Given the description of an element on the screen output the (x, y) to click on. 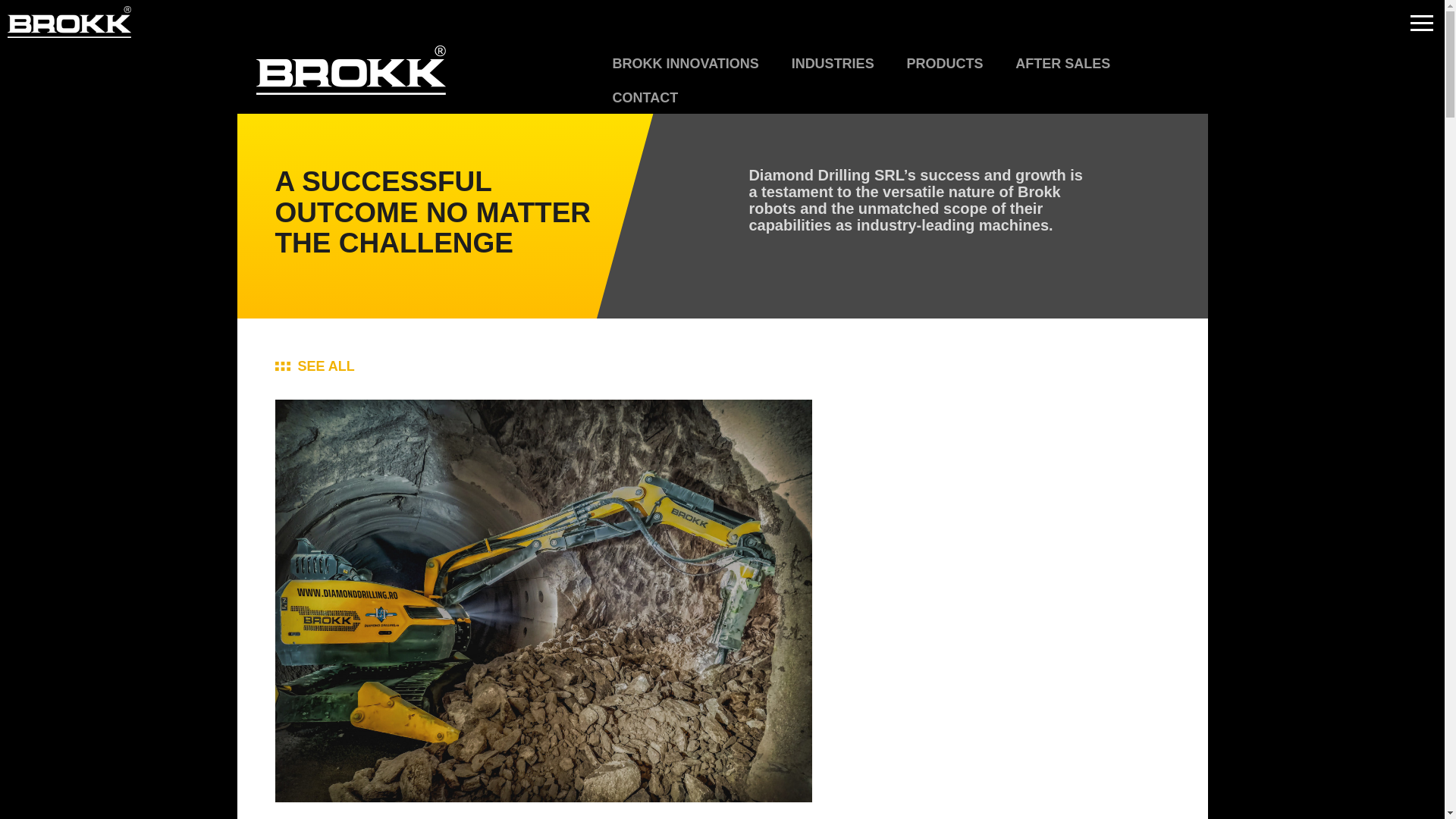
INDUSTRIES (833, 62)
PRODUCTS (943, 62)
NEWS (713, 21)
CAREER (795, 21)
BROKK INNOVATIONS (685, 62)
ABOUT (636, 21)
MY BROKK (1147, 21)
